Given the description of an element on the screen output the (x, y) to click on. 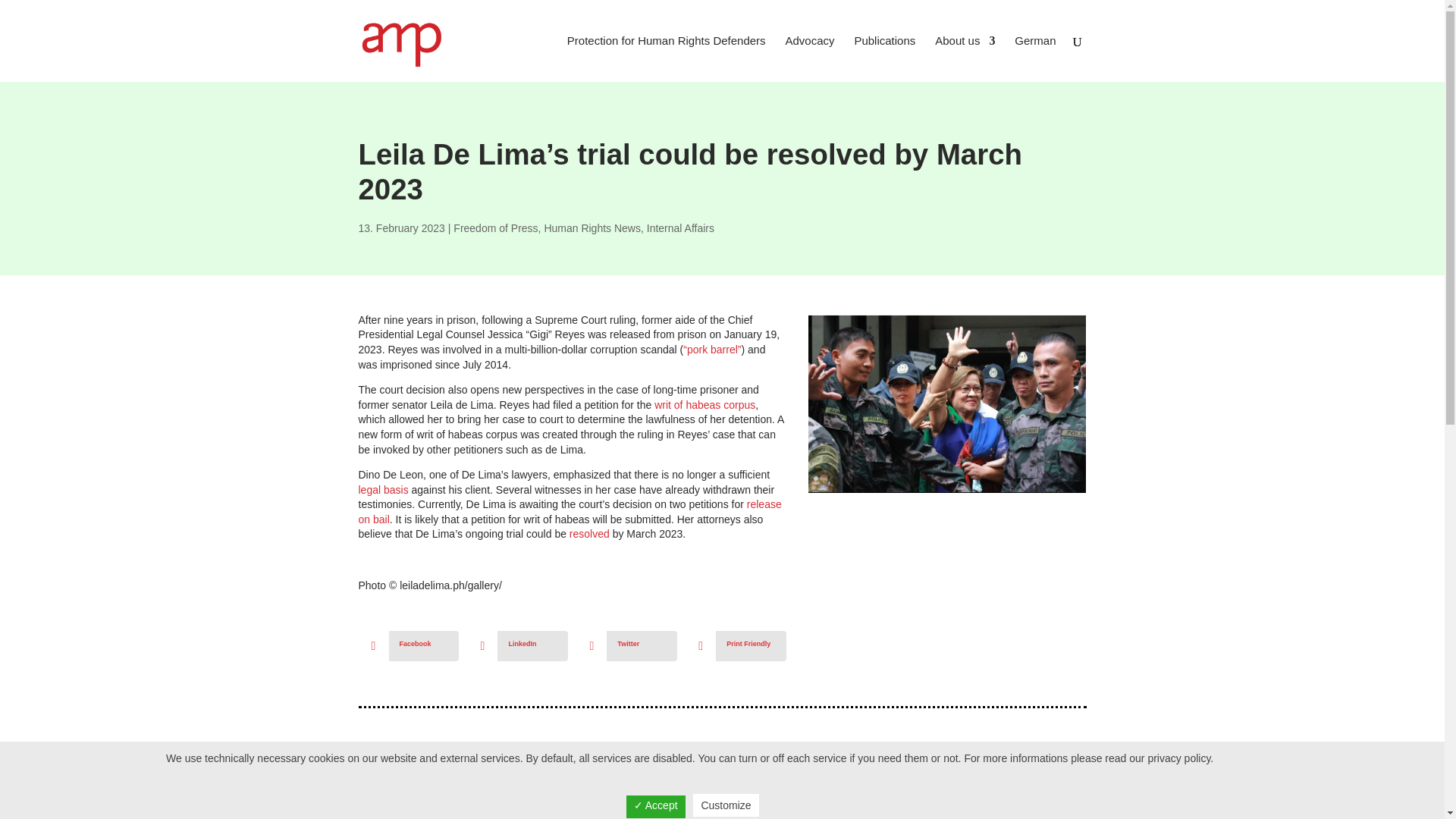
LinkedIn (517, 645)
Print Friendly (735, 645)
resolved (589, 533)
release on bail (569, 511)
Internal Affairs (680, 227)
Twitter (626, 645)
legal basis (382, 490)
About us (964, 58)
Human Rights News (591, 227)
Freedom of Press (494, 227)
writ of habeas corpus (704, 404)
Publications (884, 58)
